Given the description of an element on the screen output the (x, y) to click on. 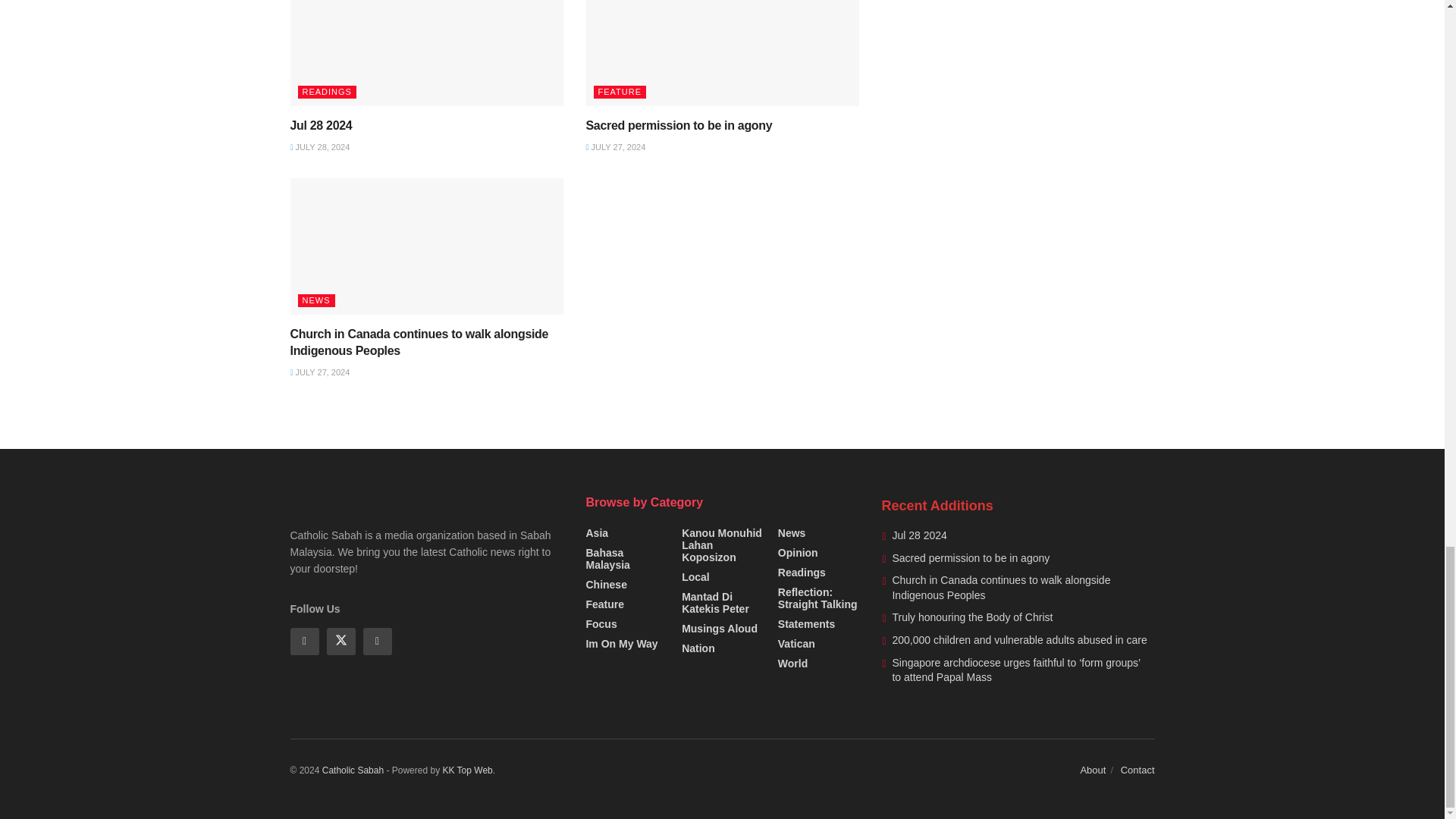
Jegtheme (467, 769)
Catholic Sabah (352, 769)
